Given the description of an element on the screen output the (x, y) to click on. 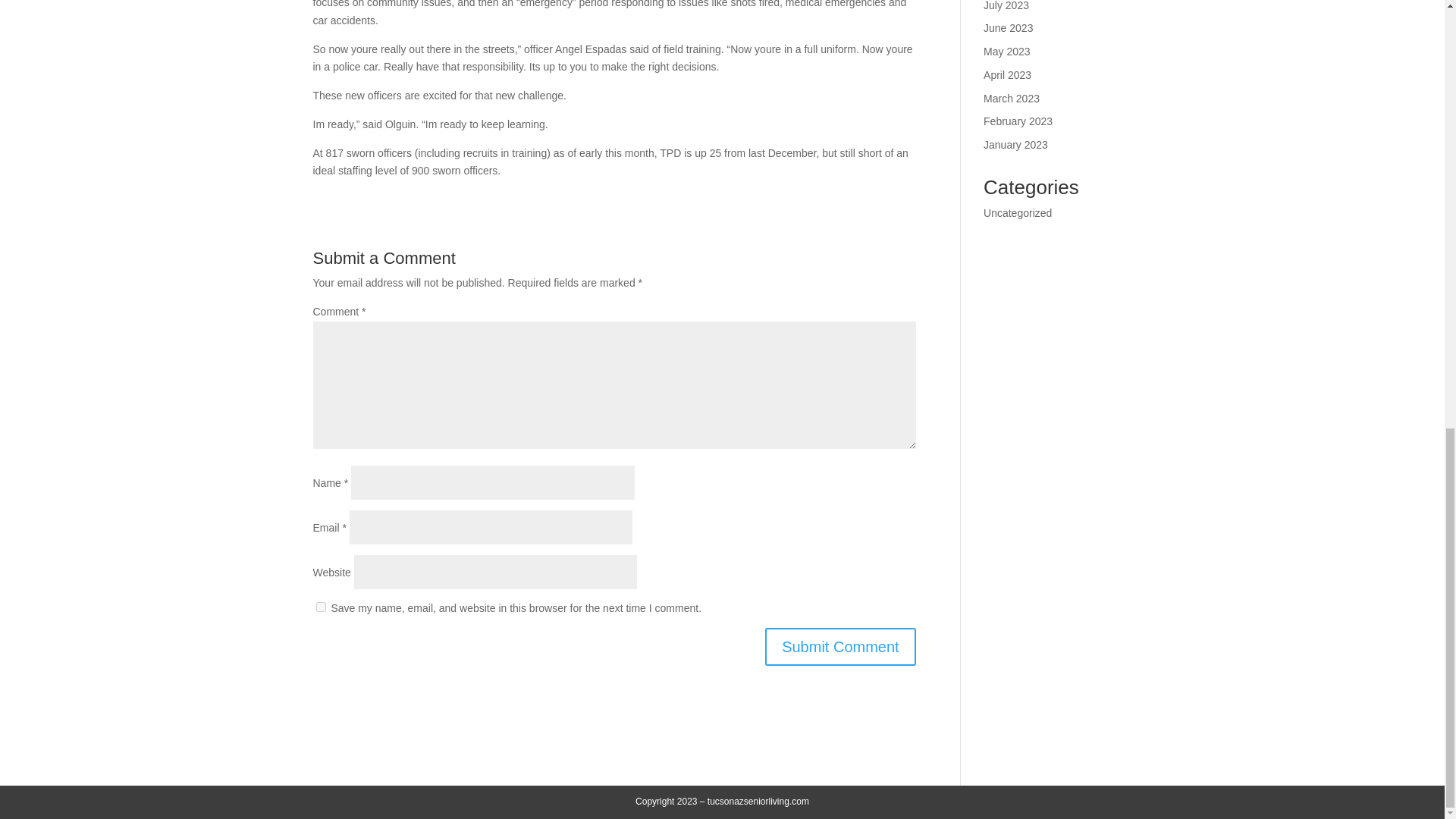
yes (319, 606)
June 2023 (1008, 28)
Submit Comment (840, 646)
January 2023 (1016, 144)
March 2023 (1011, 98)
April 2023 (1007, 74)
Uncategorized (1017, 213)
July 2023 (1006, 5)
Submit Comment (840, 646)
February 2023 (1018, 121)
